Given the description of an element on the screen output the (x, y) to click on. 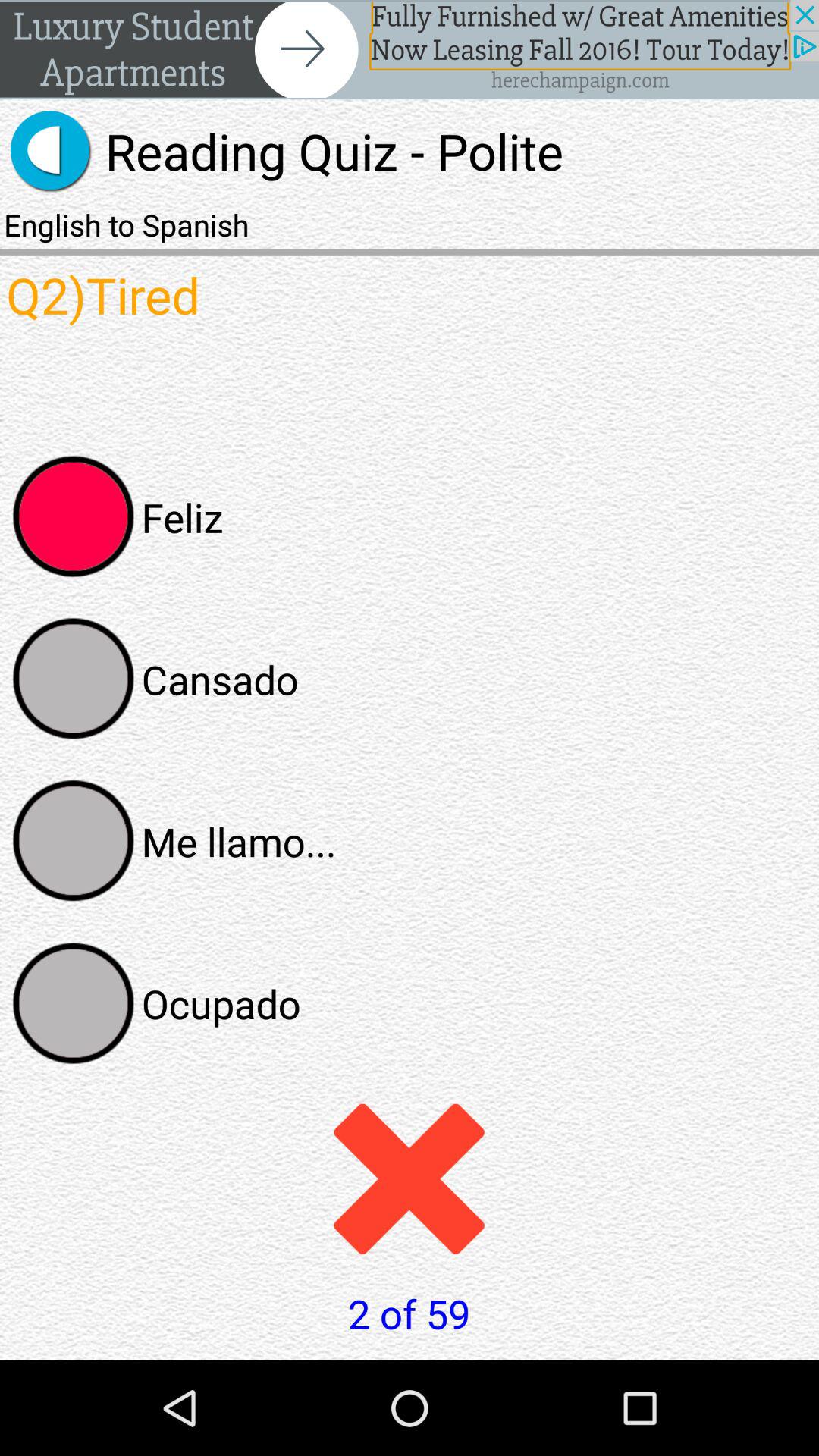
open advertisement (409, 49)
